Given the description of an element on the screen output the (x, y) to click on. 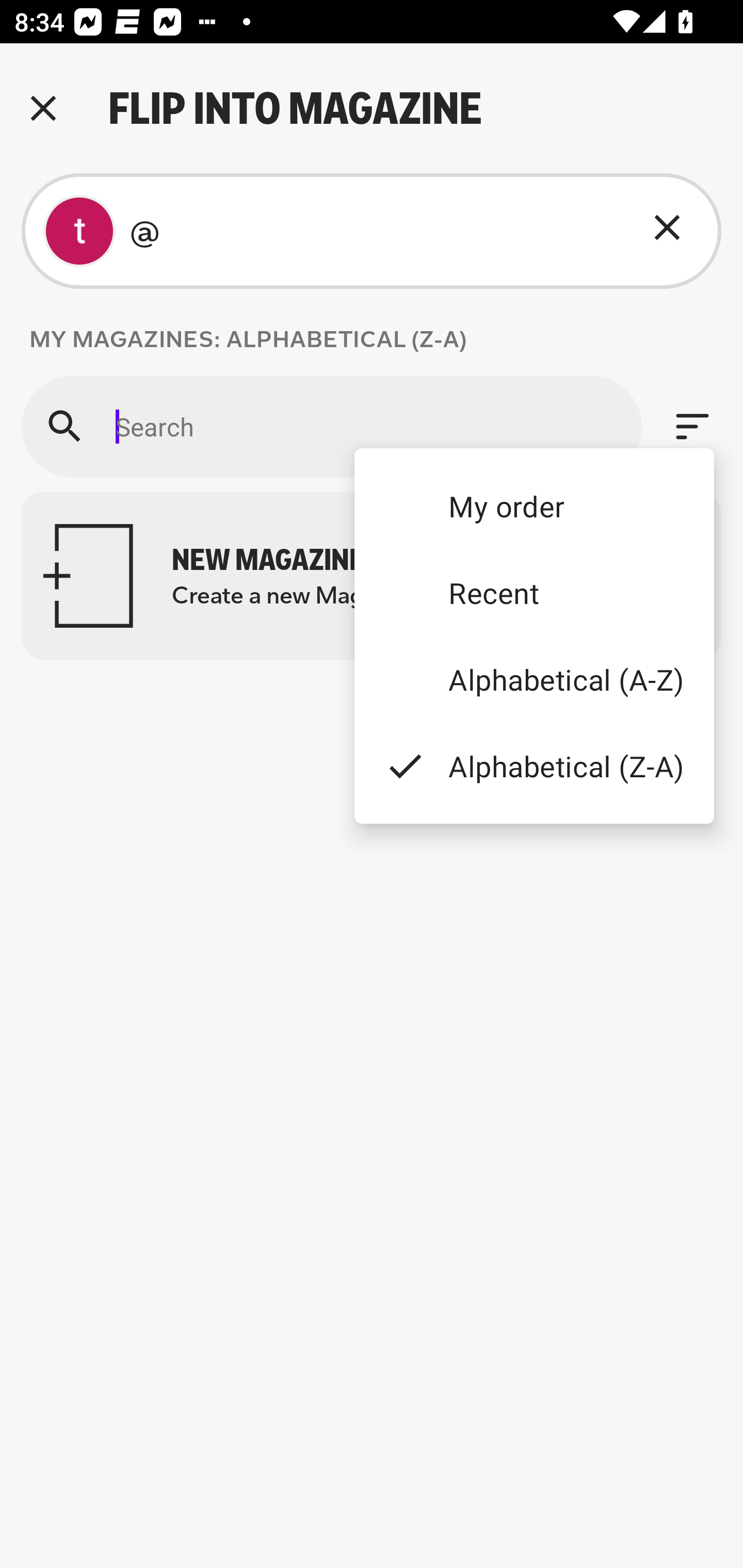
My order (534, 505)
Recent (534, 592)
Alphabetical (A-Z) (534, 679)
Alphabetical (Z-A) (534, 765)
